Given the description of an element on the screen output the (x, y) to click on. 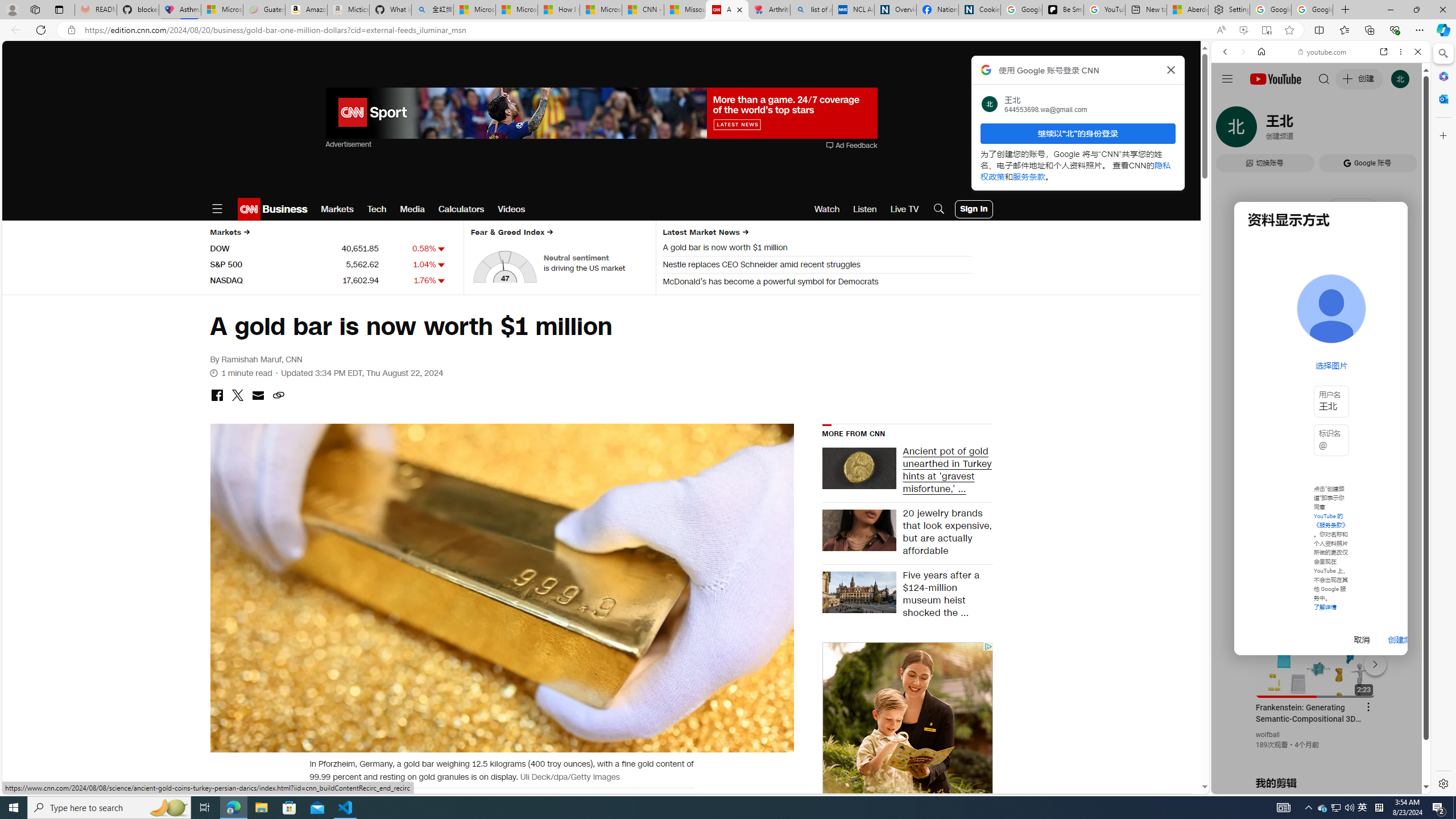
wolfball (1268, 734)
Class: right-arrow (745, 232)
